Given the description of an element on the screen output the (x, y) to click on. 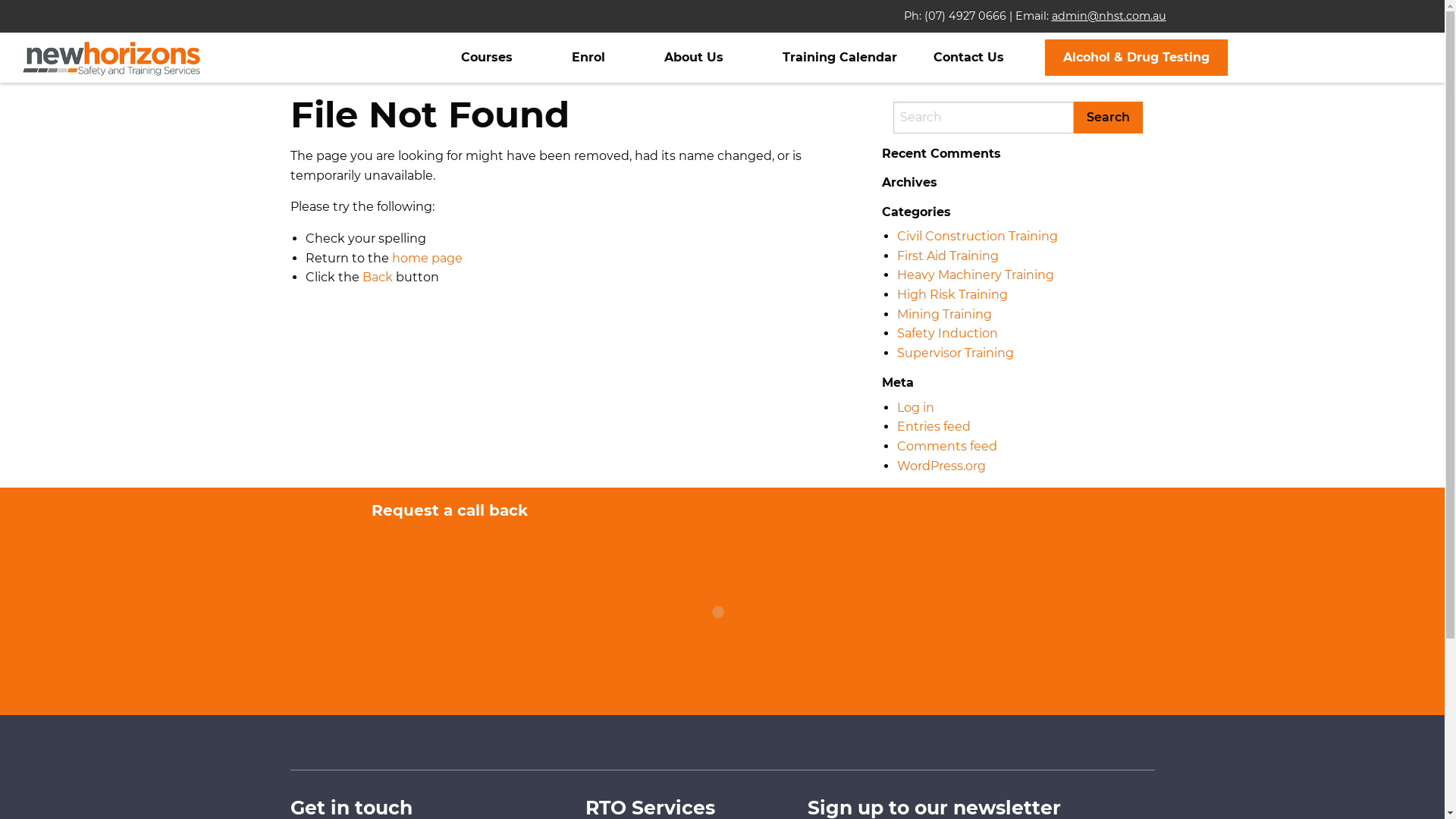
First Aid Training Element type: text (946, 255)
Back Element type: text (377, 276)
Log in Element type: text (914, 407)
Courses Element type: text (486, 57)
Training Calendar Element type: text (839, 57)
Civil Construction Training Element type: text (976, 236)
About Us Element type: text (693, 57)
WordPress.org Element type: text (940, 465)
Alcohol & Drug Testing Element type: text (1135, 57)
High Risk Training Element type: text (951, 294)
Mining Training Element type: text (943, 314)
Supervisor Training Element type: text (954, 352)
Search Element type: text (1107, 117)
Entries feed Element type: text (932, 426)
admin@nhst.com.au Element type: text (1108, 15)
Heavy Machinery Training Element type: text (974, 274)
Comments feed Element type: text (946, 446)
Contact Us Element type: text (968, 57)
home page Element type: text (426, 258)
Enrol Element type: text (588, 57)
Safety Induction Element type: text (946, 333)
